Given the description of an element on the screen output the (x, y) to click on. 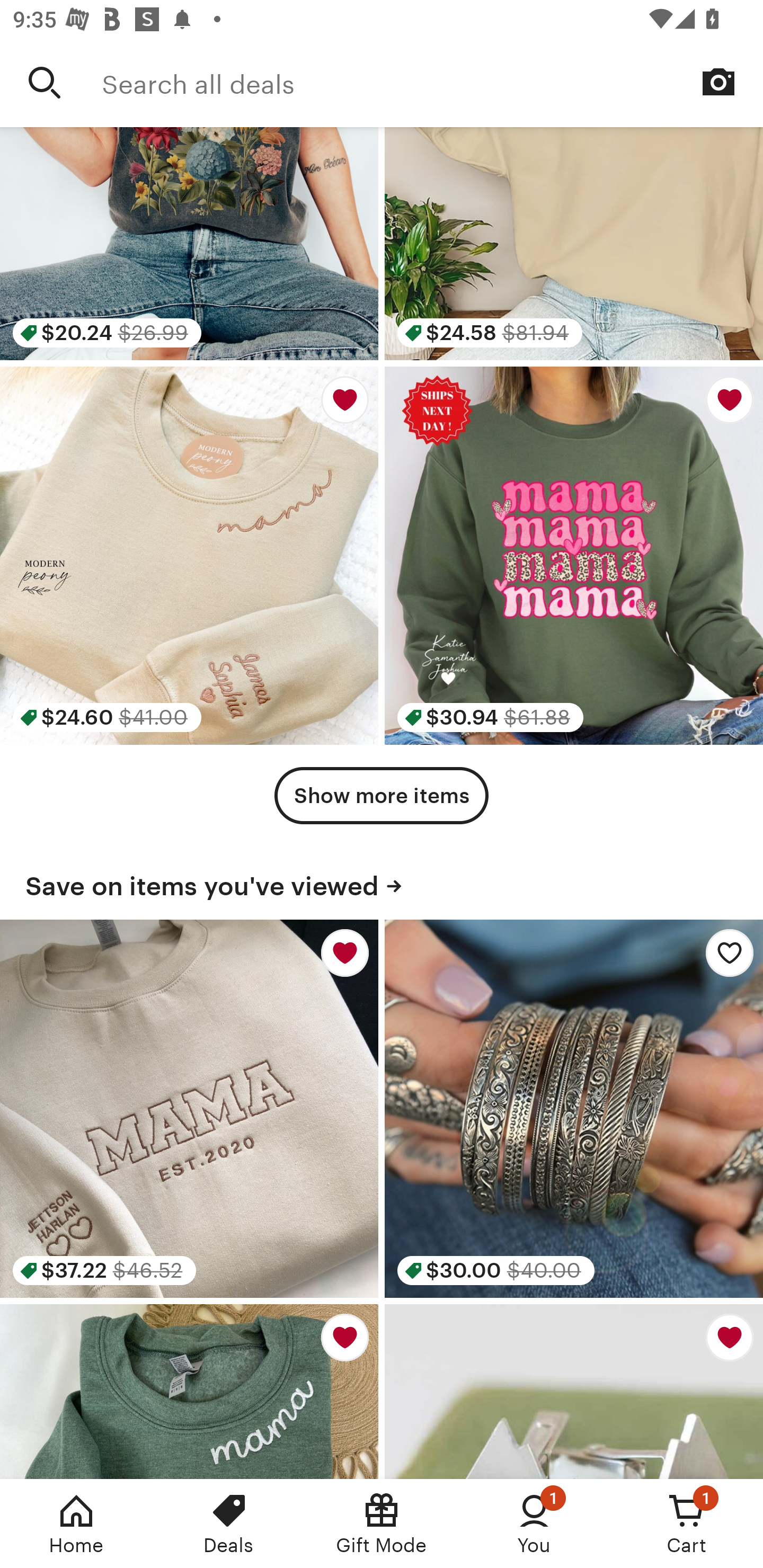
Search for anything on Etsy (44, 82)
Search by image (718, 81)
Search all deals (432, 82)
Show more items (381, 795)
Save on items you've viewed (381, 883)
Home (76, 1523)
Gift Mode (381, 1523)
You, 1 new notification You (533, 1523)
Cart, 1 new notification Cart (686, 1523)
